Given the description of an element on the screen output the (x, y) to click on. 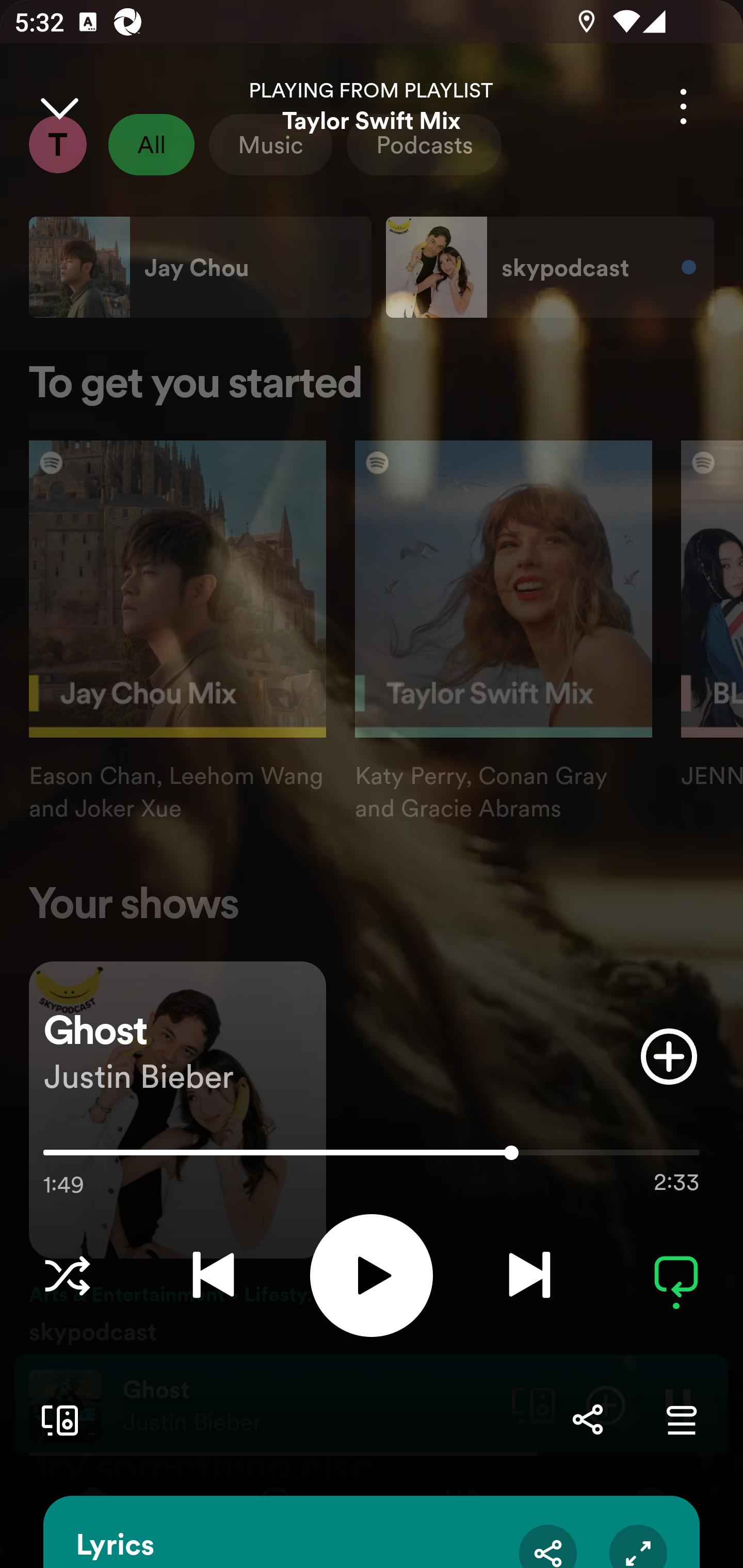
Close (59, 106)
More options for song Ghost (683, 106)
PLAYING FROM PLAYLIST Taylor Swift Mix (371, 106)
Add item (669, 1056)
1:49 2:33 109278.0 Use volume keys to adjust (371, 1157)
Play (371, 1275)
Previous (212, 1275)
Next (529, 1275)
Choose a Listening Mode (66, 1275)
Repeat (676, 1275)
Share (587, 1419)
Go to Queue (681, 1419)
Connect to a device. Opens the devices menu (55, 1419)
Lyrics Share Expand (371, 1531)
Share (547, 1546)
Expand (638, 1546)
